Given the description of an element on the screen output the (x, y) to click on. 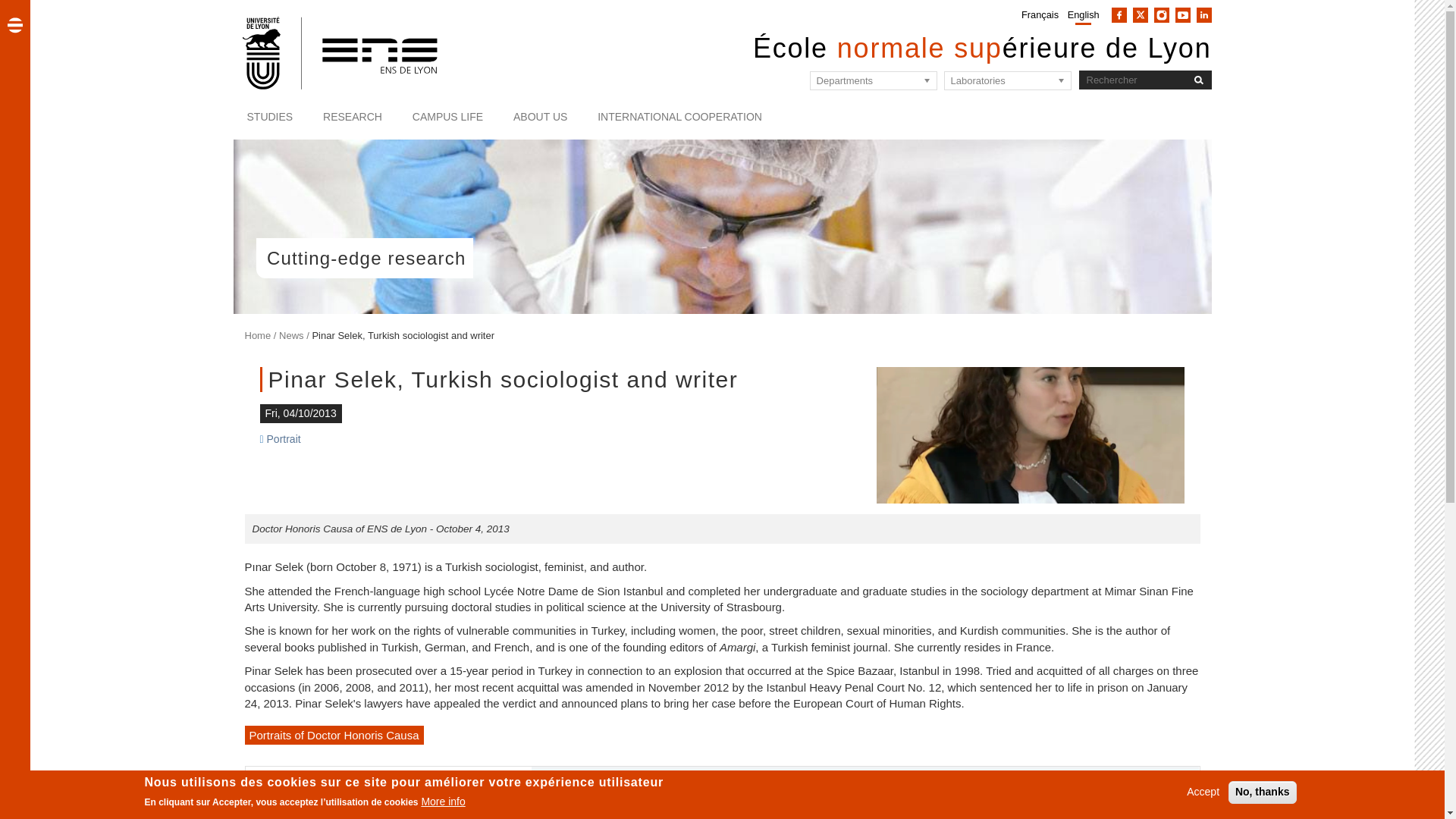
Rechercher (1198, 79)
Rechercher (1198, 79)
Home (340, 52)
English (1083, 14)
